Given the description of an element on the screen output the (x, y) to click on. 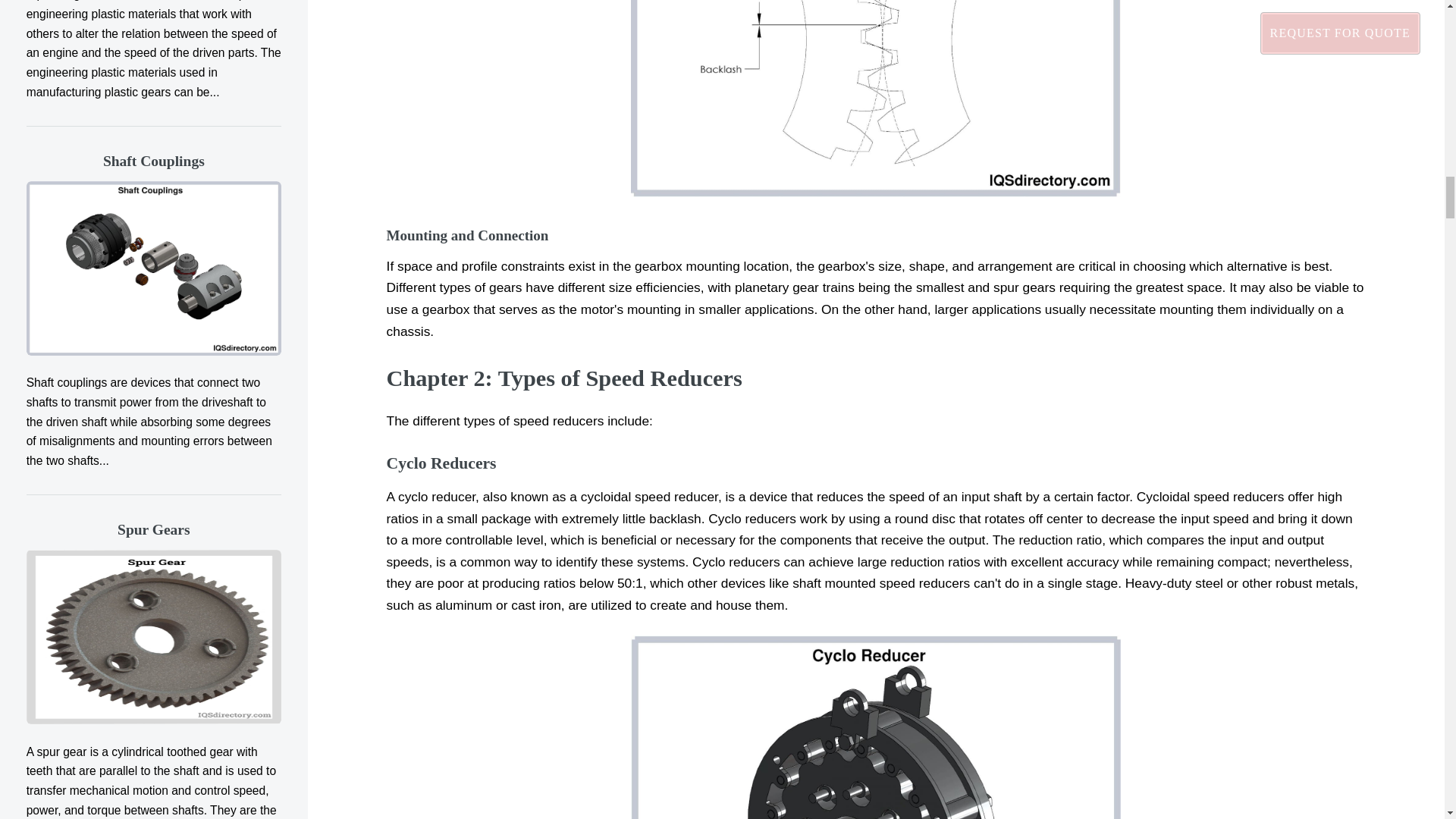
Backlash (875, 98)
Cyclo Reducer (875, 727)
